Given the description of an element on the screen output the (x, y) to click on. 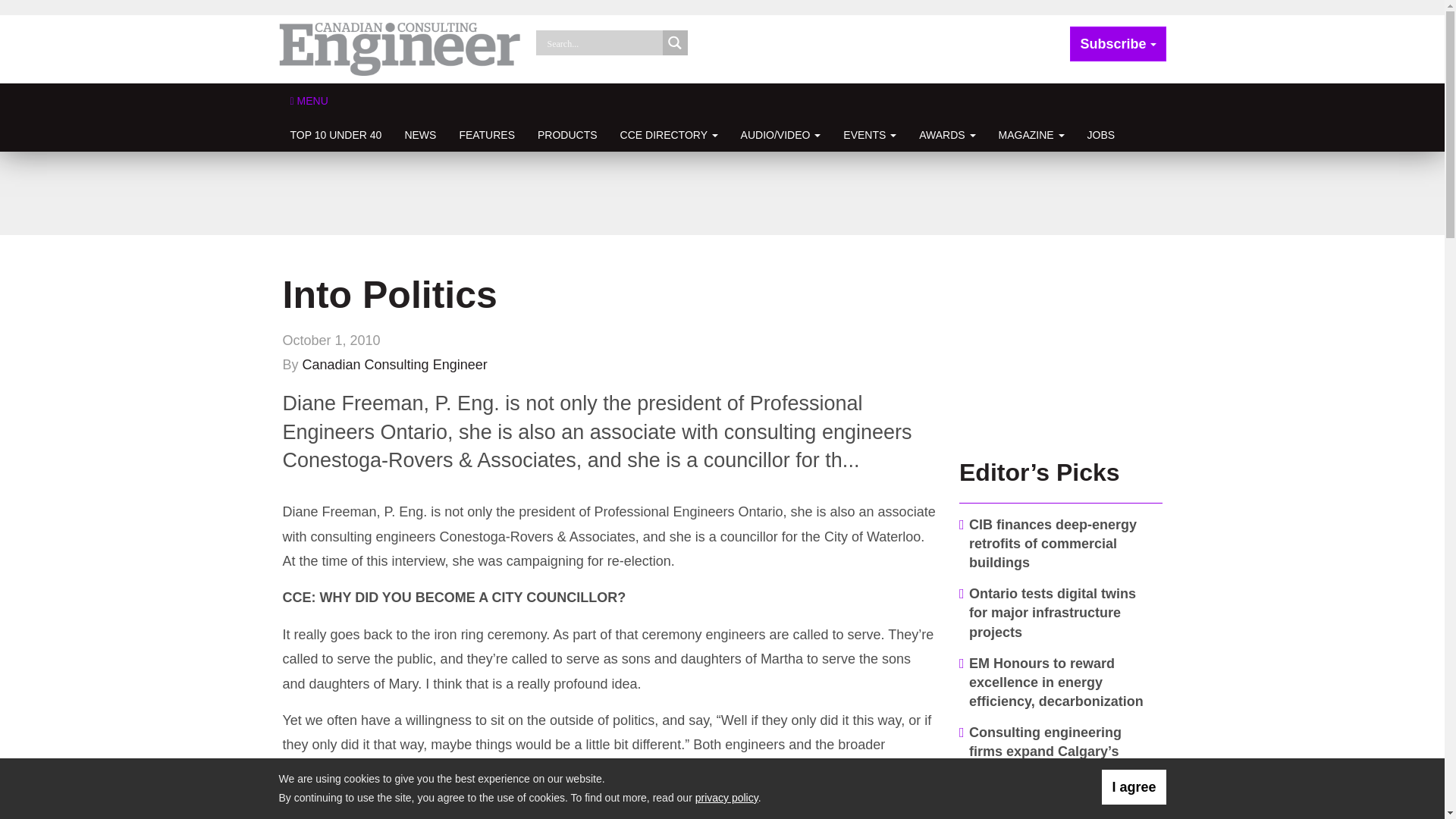
3rd party ad content (721, 192)
FEATURES (485, 134)
Subscribe (1118, 43)
Canadian Consulting Engineer (400, 48)
TOP 10 UNDER 40 (336, 134)
MAGAZINE (1031, 134)
NEWS (419, 134)
3rd party ad content (1060, 348)
PRODUCTS (566, 134)
Click to show site navigation (309, 100)
AWARDS (947, 134)
MENU (309, 100)
CCE DIRECTORY (668, 134)
JOBS (1100, 134)
EVENTS (869, 134)
